Given the description of an element on the screen output the (x, y) to click on. 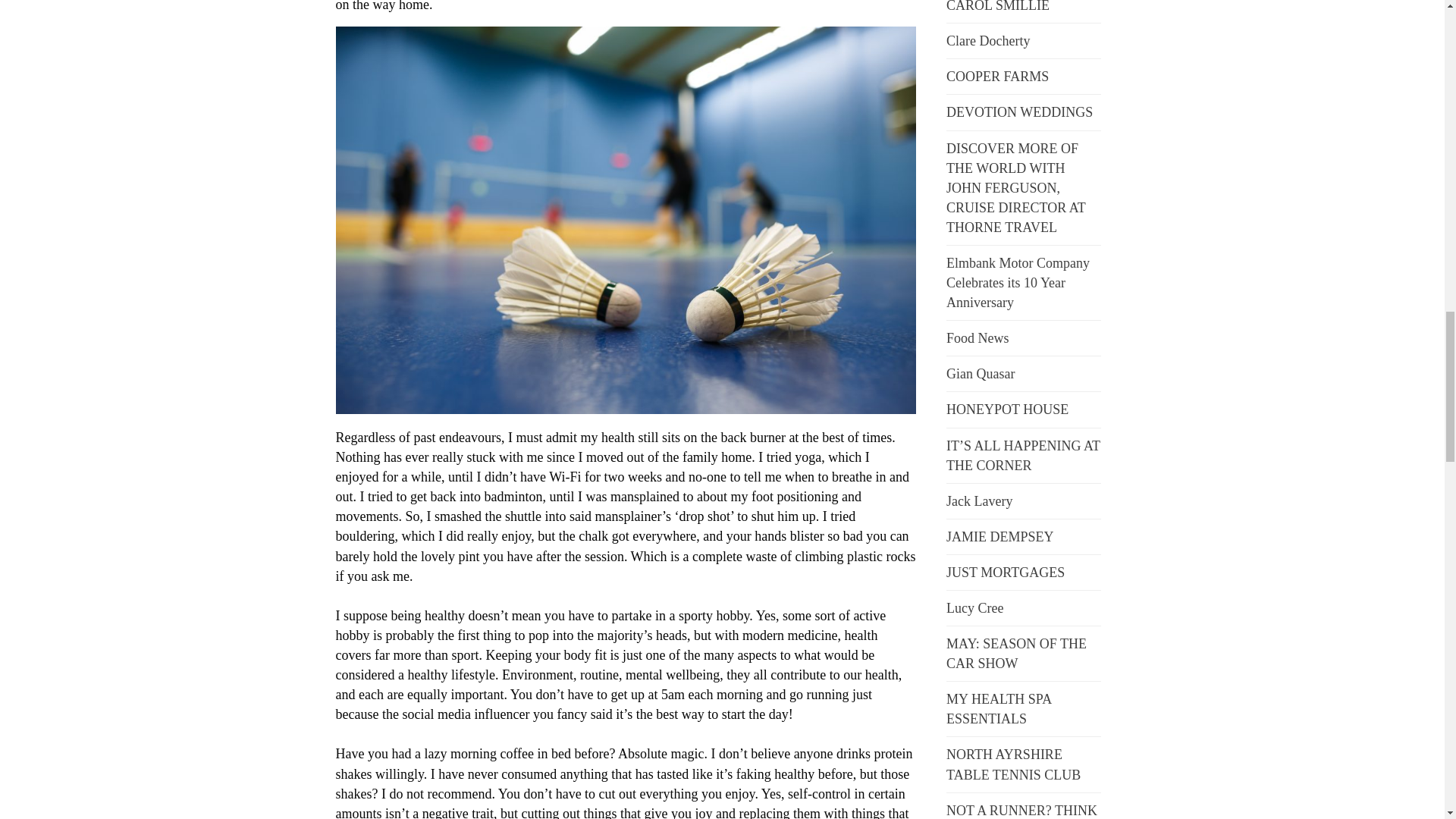
Food News (977, 337)
COOPER FARMS (997, 76)
MAY: SEASON OF THE CAR SHOW (1016, 653)
DEVOTION WEDDINGS (1019, 111)
HONEYPOT HOUSE (1007, 409)
Lucy Cree (974, 607)
CAROL SMILLIE (997, 6)
Clare Docherty (987, 40)
JUST MORTGAGES (1005, 572)
JAMIE DEMPSEY (1000, 536)
Elmbank Motor Company Celebrates its 10 Year Anniversary (1017, 282)
Jack Lavery (978, 500)
Gian Quasar (980, 373)
